Given the description of an element on the screen output the (x, y) to click on. 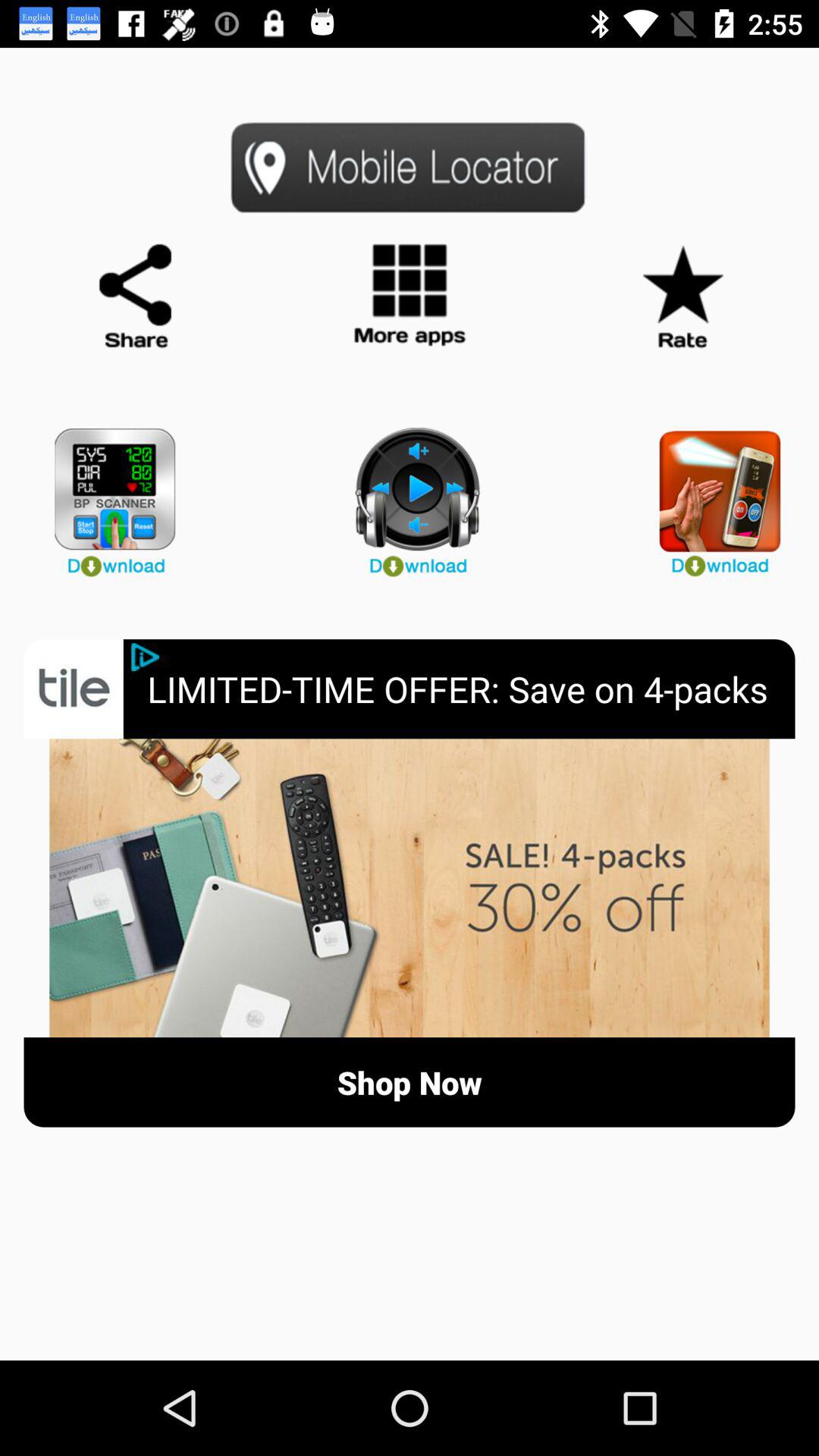
rate (682, 296)
